Given the description of an element on the screen output the (x, y) to click on. 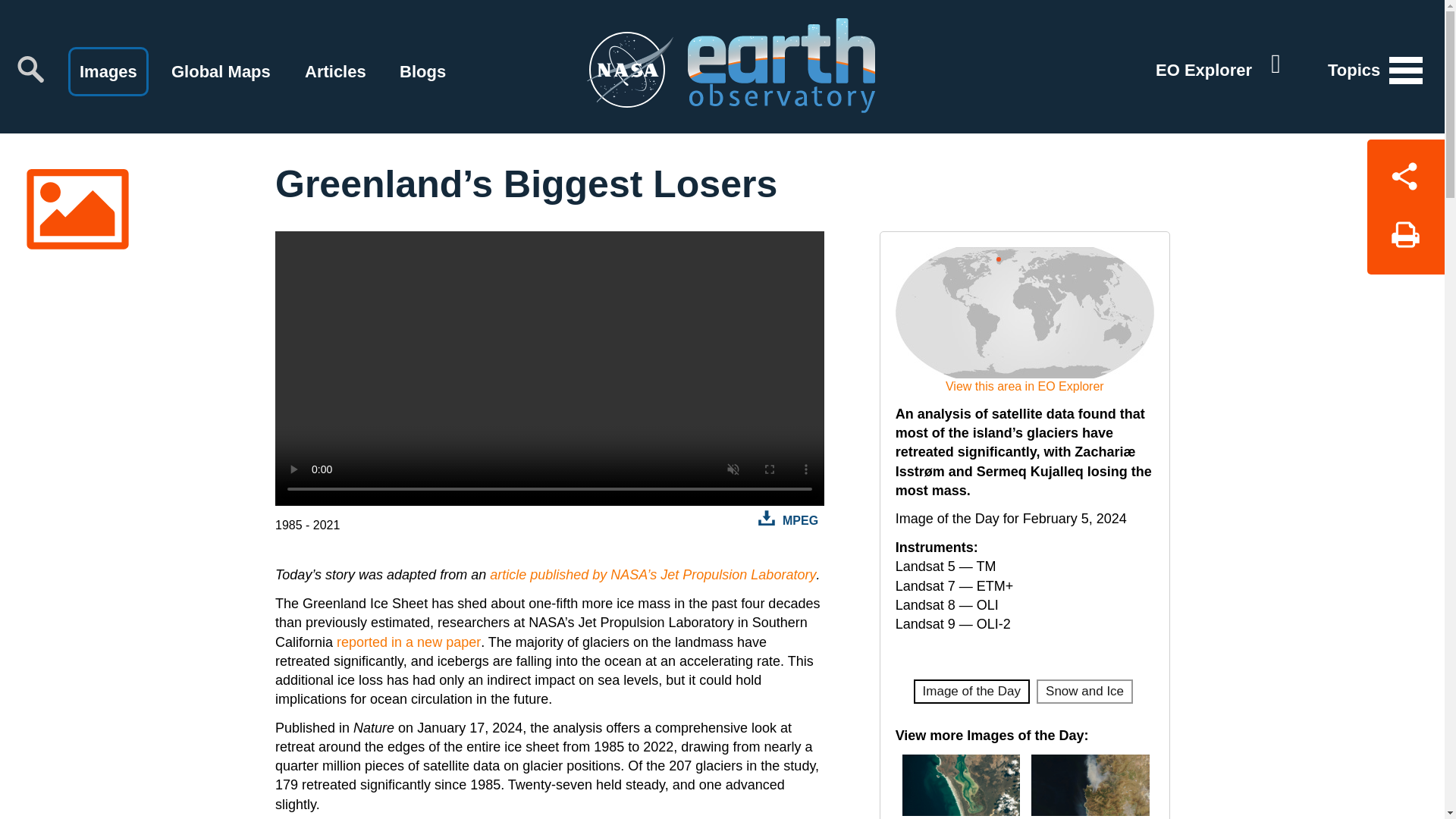
Share (1405, 173)
Print (1405, 240)
